Given the description of an element on the screen output the (x, y) to click on. 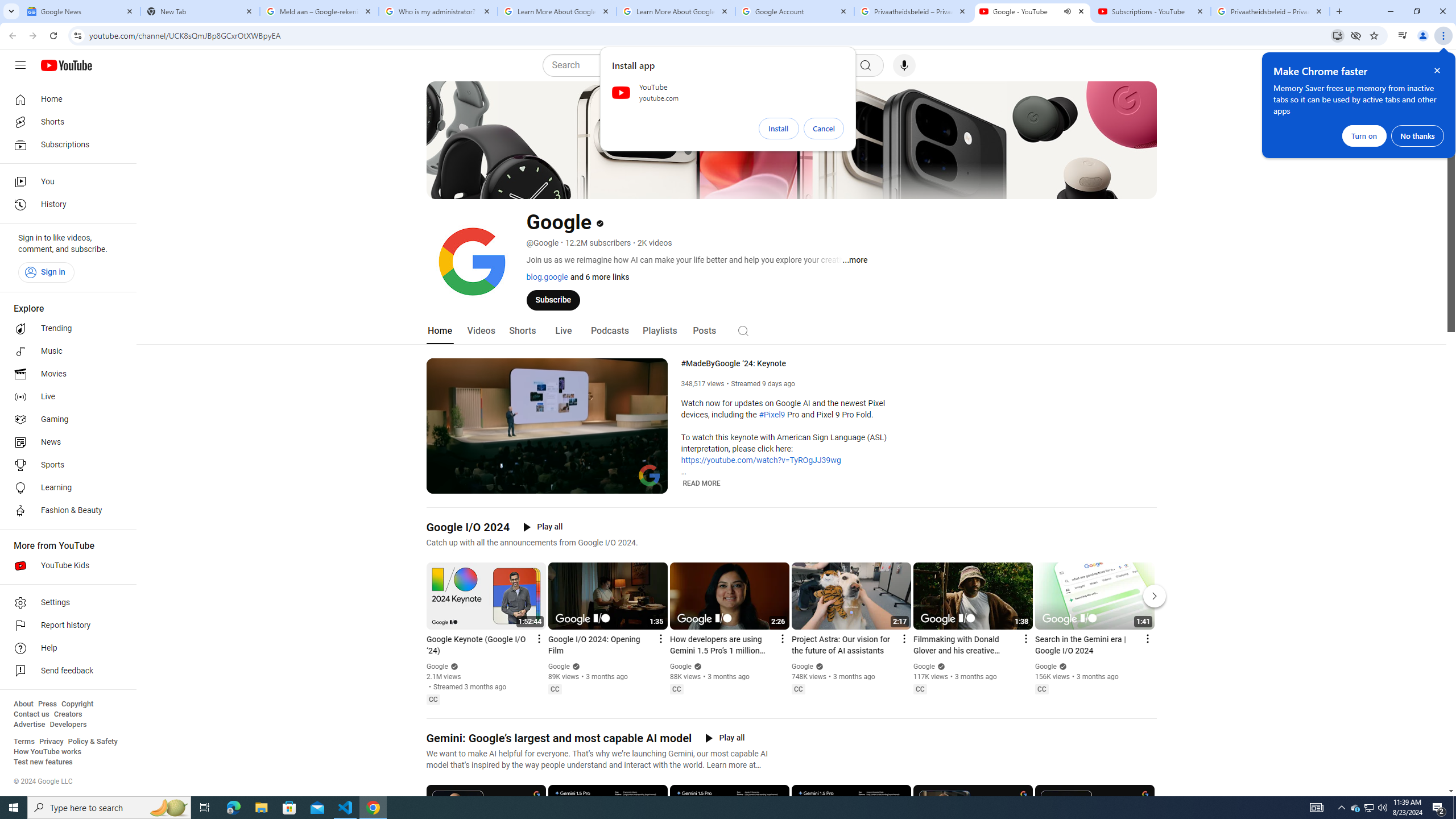
Live (562, 330)
Install YouTube (1336, 35)
READ MORE (701, 483)
New Tab (199, 11)
Learning (64, 487)
Subscribe (552, 299)
Close help bubble (1436, 69)
Seek slider (546, 471)
